Given the description of an element on the screen output the (x, y) to click on. 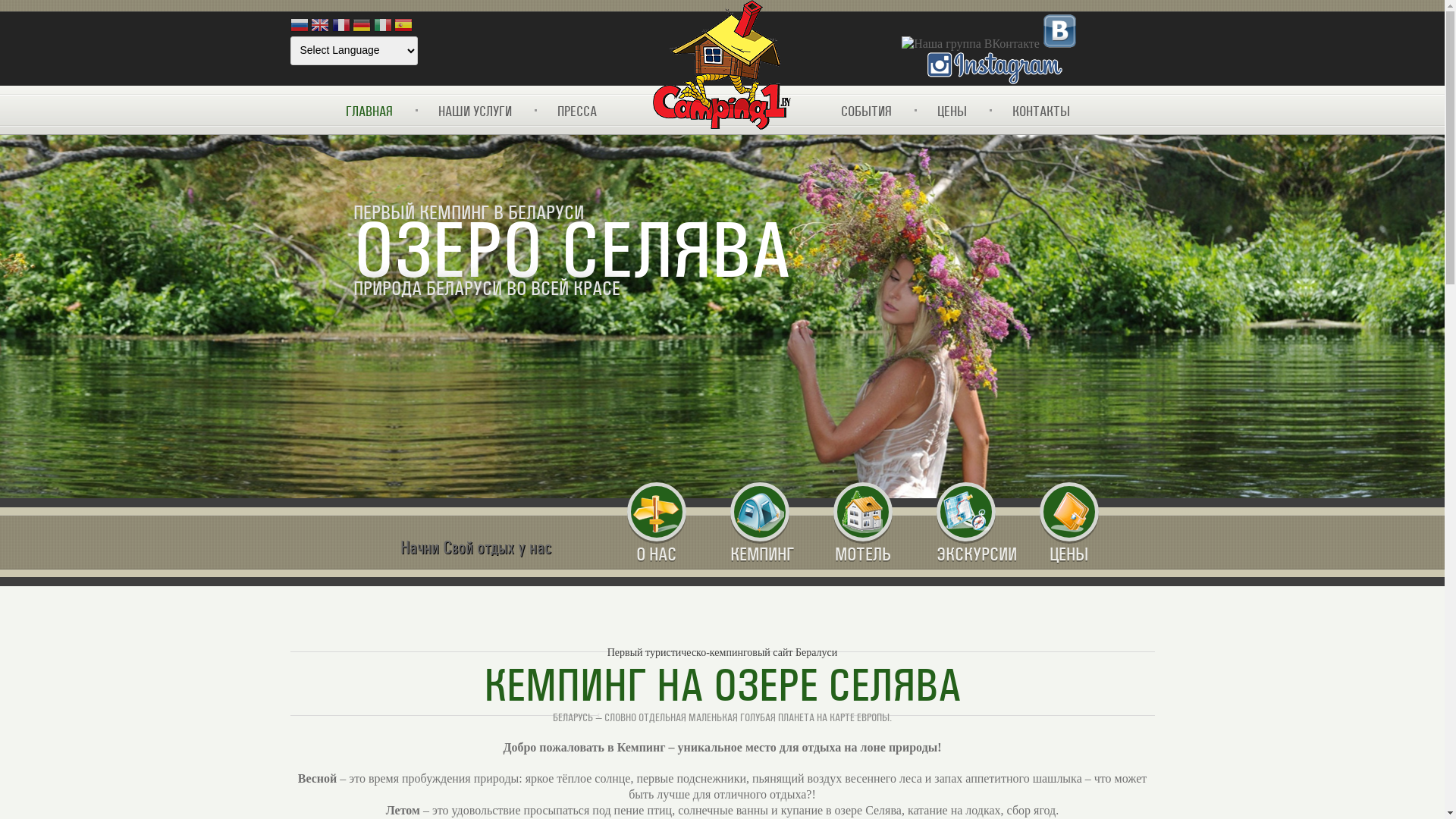
Russian Element type: hover (298, 26)
Logo Element type: text (721, 65)
Spanish Element type: hover (403, 26)
German Element type: hover (361, 26)
English Element type: hover (319, 26)
Italian Element type: hover (382, 26)
French Element type: hover (341, 26)
